Given the description of an element on the screen output the (x, y) to click on. 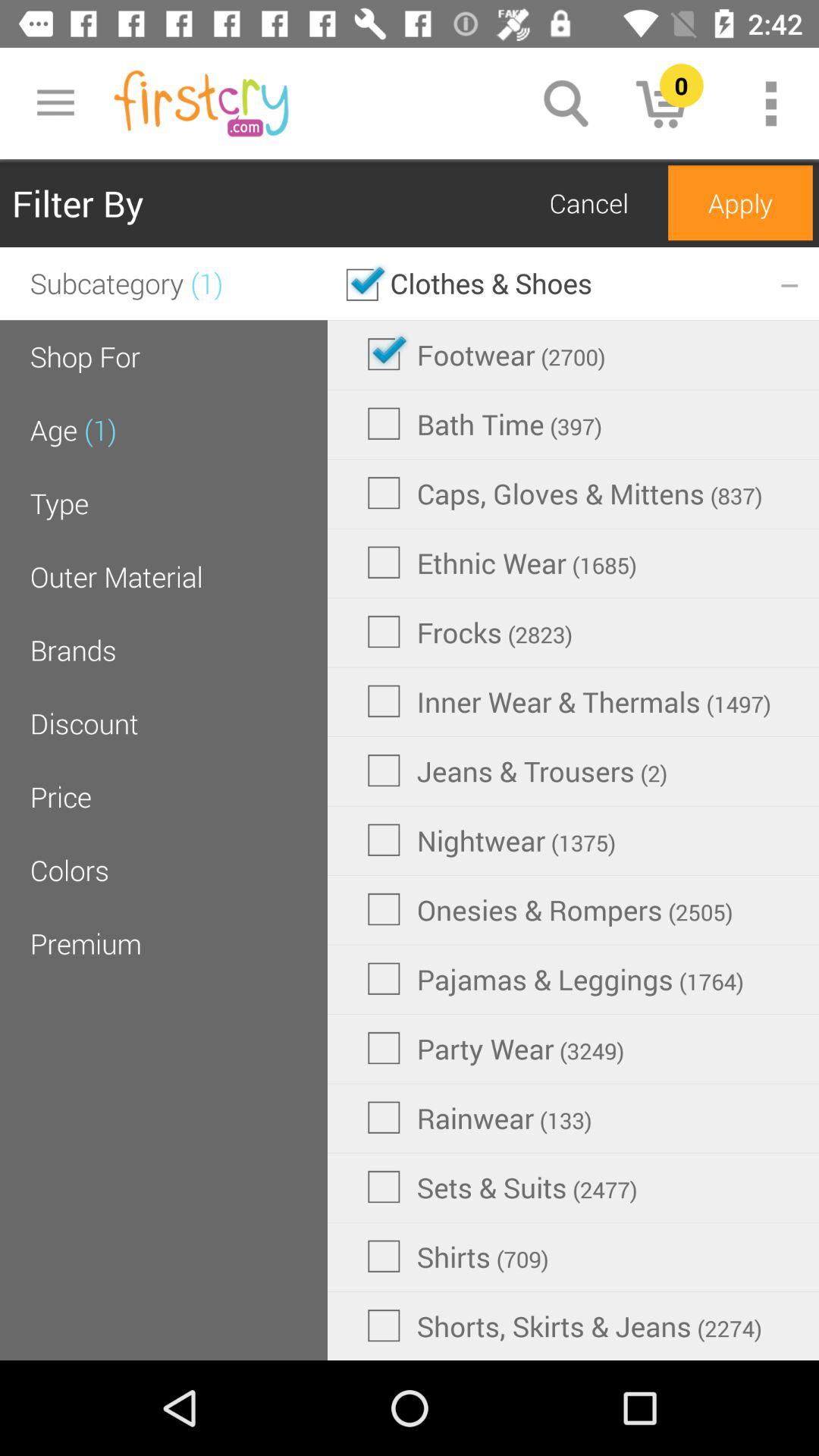
press the premium item (85, 943)
